Given the description of an element on the screen output the (x, y) to click on. 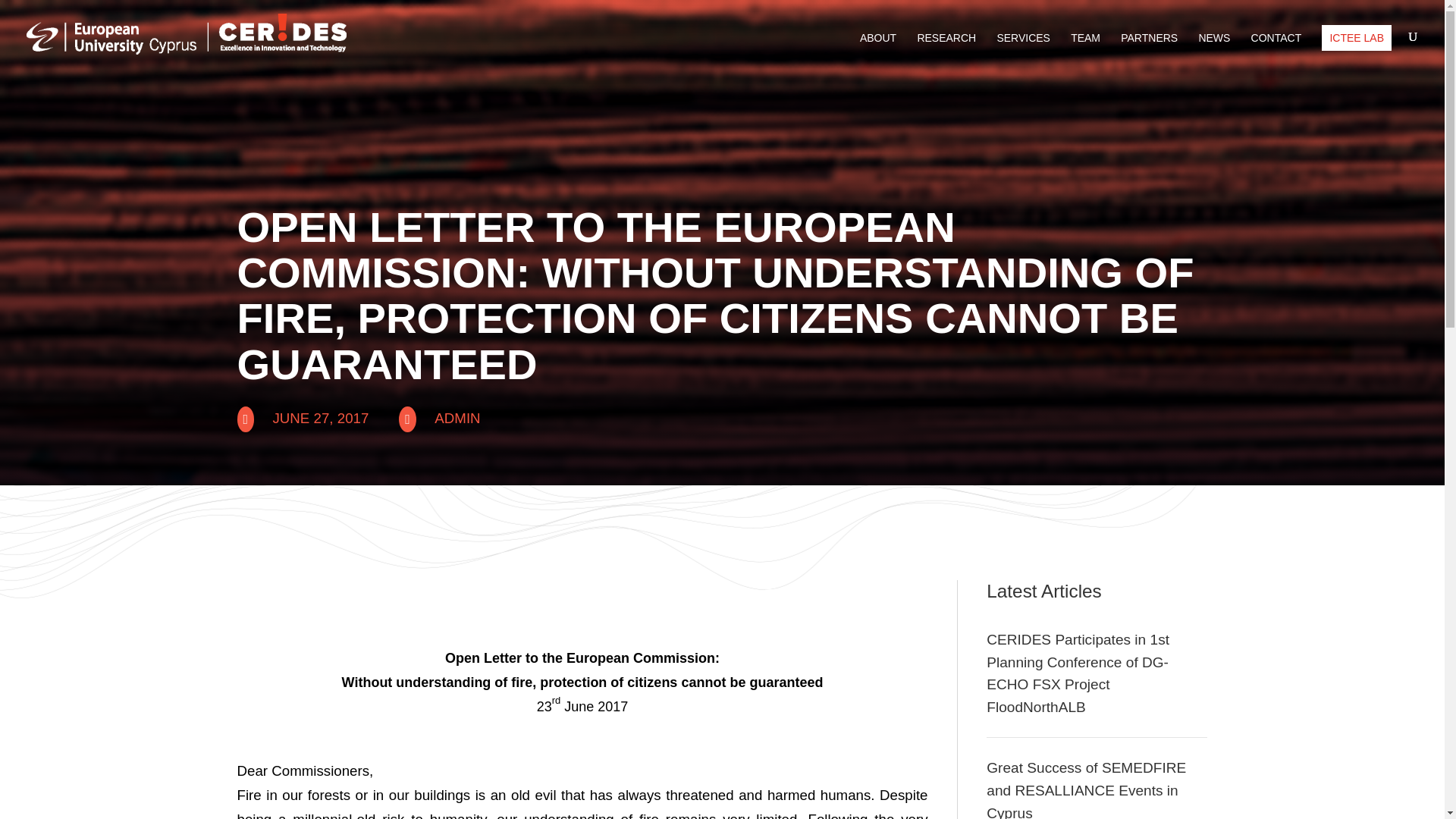
NEWS (1214, 49)
RESEARCH (946, 49)
SERVICES (1022, 49)
PARTNERS (1149, 49)
Great Success of SEMEDFIRE and RESALLIANCE Events in Cyprus (1086, 789)
CONTACT (1275, 49)
ABOUT (878, 49)
ICTEE LAB (1356, 37)
